Given the description of an element on the screen output the (x, y) to click on. 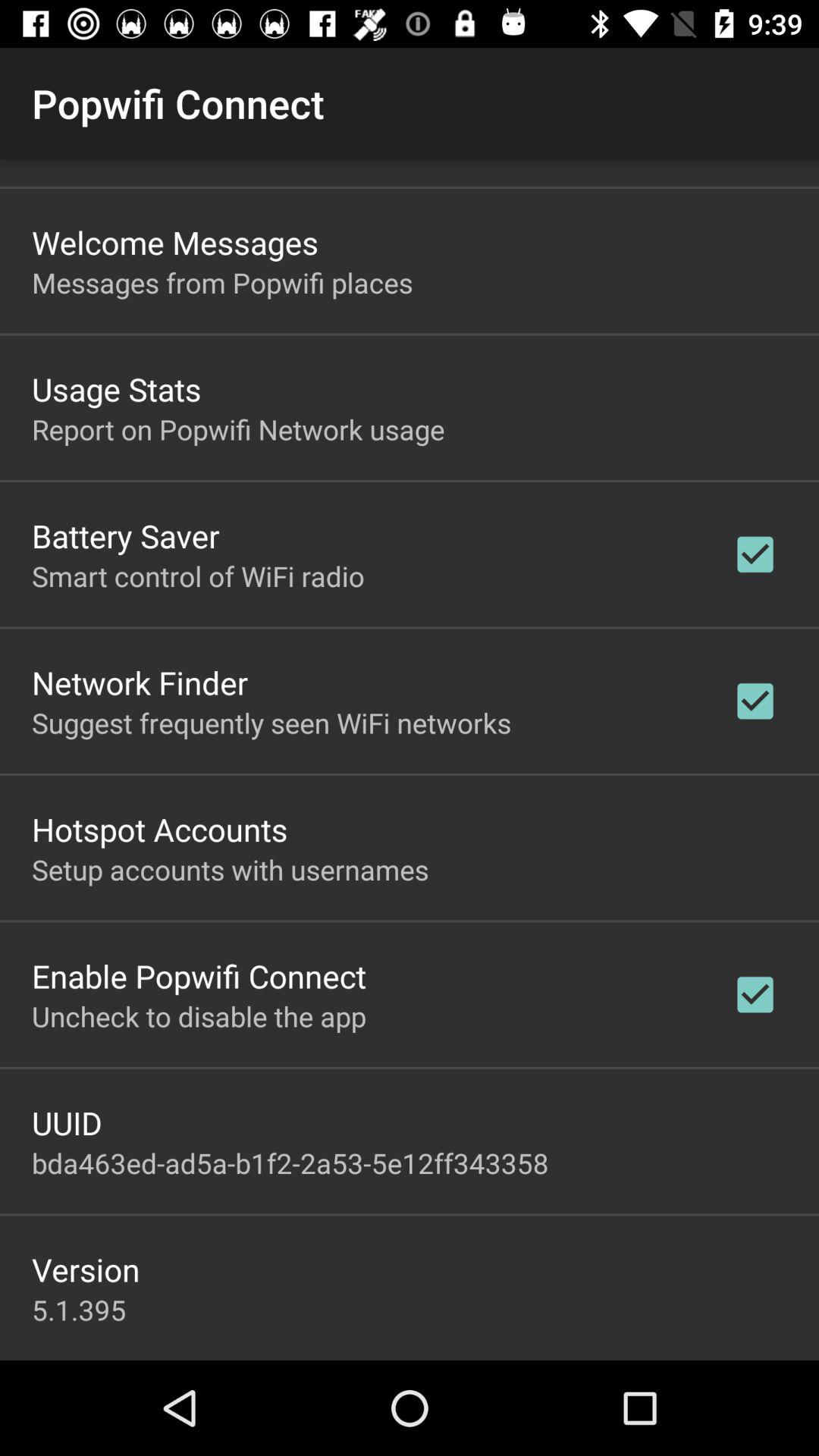
jump until the suggest frequently seen app (271, 722)
